Given the description of an element on the screen output the (x, y) to click on. 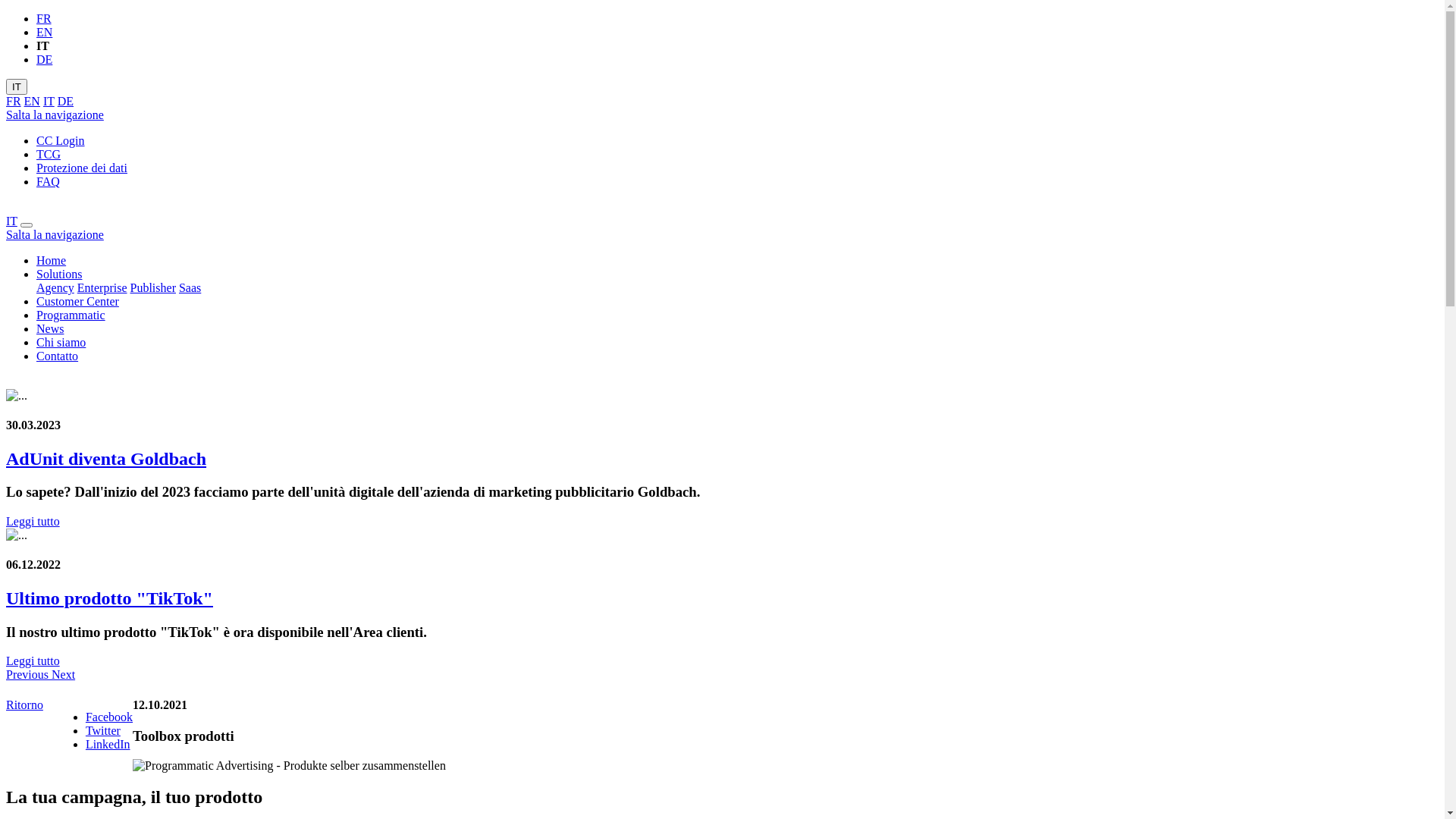
Ultimo prodotto "TikTok" Element type: text (109, 598)
IT Element type: text (48, 100)
Leggi tutto Element type: text (32, 520)
Previous Element type: text (28, 674)
Twitter Element type: text (102, 730)
Protezione dei dati Element type: text (81, 167)
Publisher Element type: text (152, 287)
IT Element type: text (16, 86)
IT Element type: text (11, 220)
FAQ Element type: text (47, 181)
Chi siamo Element type: text (60, 341)
DE Element type: text (65, 100)
CC Login Element type: text (60, 140)
AdUnit diventa Goldbach Element type: text (106, 458)
Saas Element type: text (189, 287)
Salta la navigazione Element type: text (54, 114)
Contatto Element type: text (57, 355)
Agency Element type: text (55, 287)
EN Element type: text (44, 31)
Facebook Element type: text (108, 716)
  Element type: text (7, 381)
Salta la navigazione Element type: text (54, 234)
Solutions Element type: text (58, 273)
FR Element type: text (13, 100)
Customer Center Element type: text (77, 300)
FR Element type: text (43, 18)
Home Element type: text (50, 260)
Enterprise Element type: text (102, 287)
  Element type: text (7, 206)
Leggi tutto Element type: text (32, 660)
LinkedIn Element type: text (107, 743)
Ritorno Element type: text (24, 705)
Programmatic Element type: text (70, 314)
TCG Element type: text (48, 153)
Next Element type: text (63, 674)
EN Element type: text (32, 100)
News Element type: text (49, 328)
DE Element type: text (44, 59)
